Given the description of an element on the screen output the (x, y) to click on. 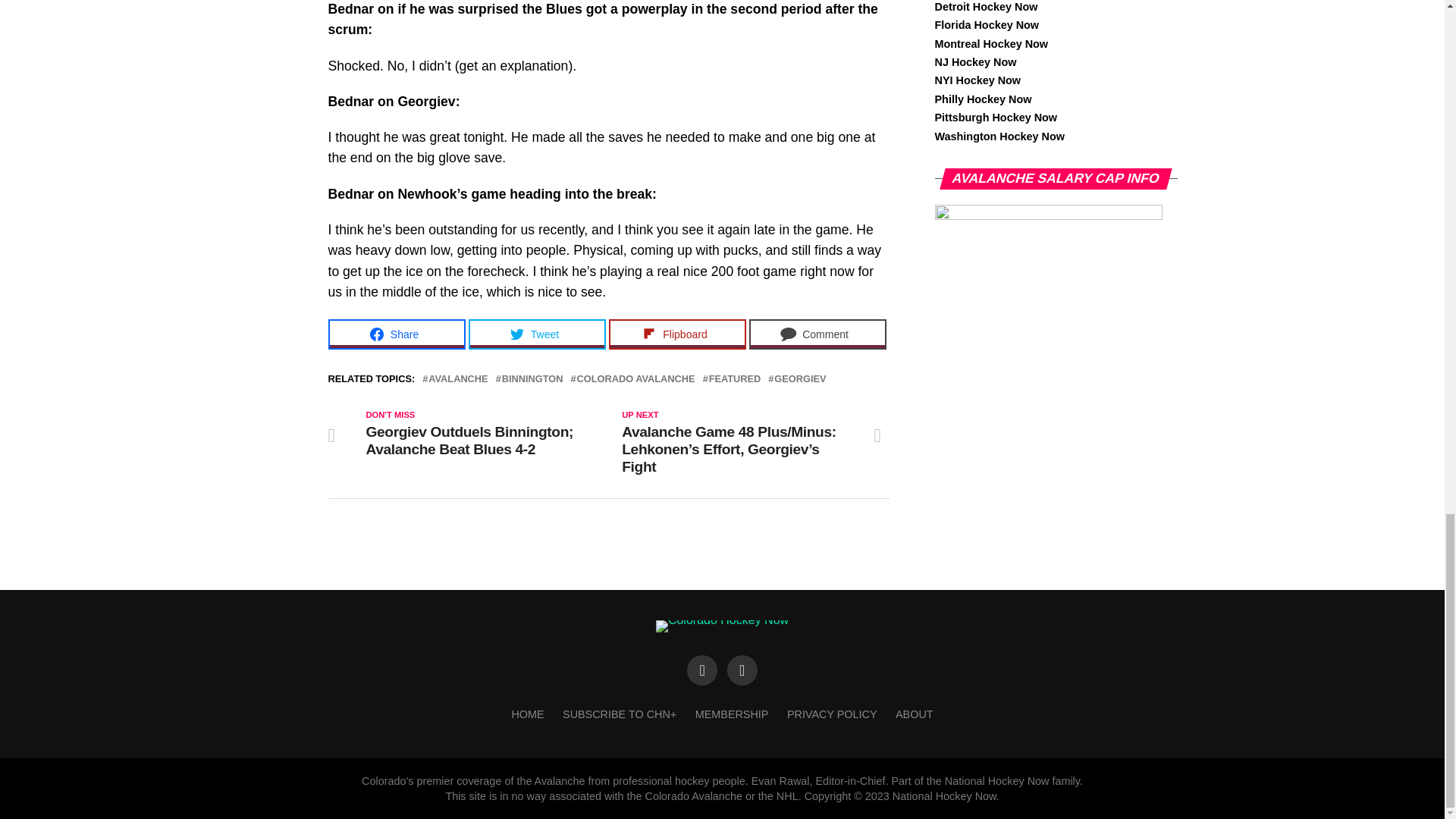
Share on Tweet (536, 334)
Share on Share (395, 334)
Share on Comment (817, 334)
Share on Flipboard (676, 334)
